Given the description of an element on the screen output the (x, y) to click on. 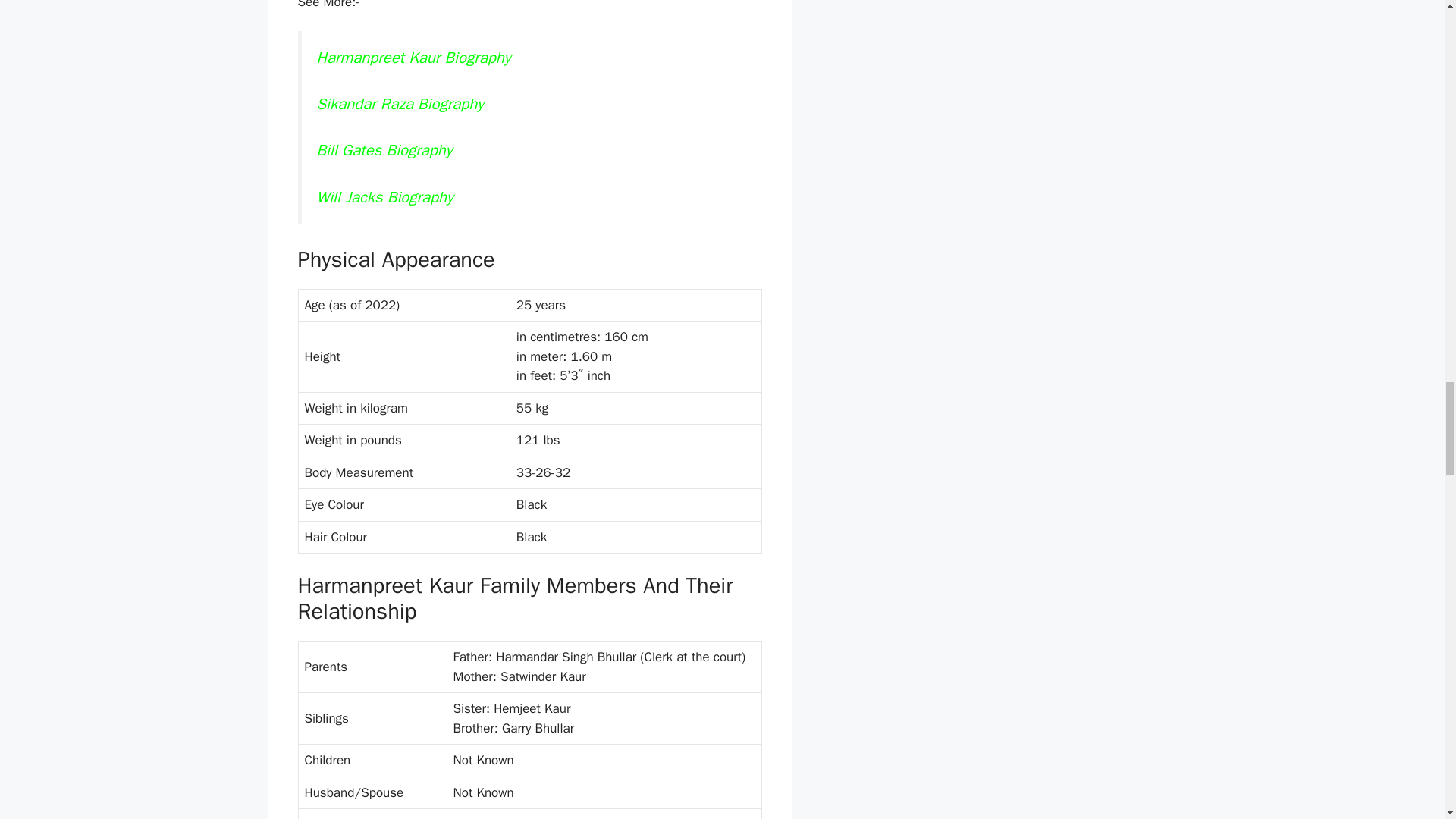
Will Jacks Biography  (387, 197)
Bill Gates Biography (384, 149)
Harmanpreet Kaur Biography (414, 57)
Sikandar Raza Biography  (402, 103)
